Given the description of an element on the screen output the (x, y) to click on. 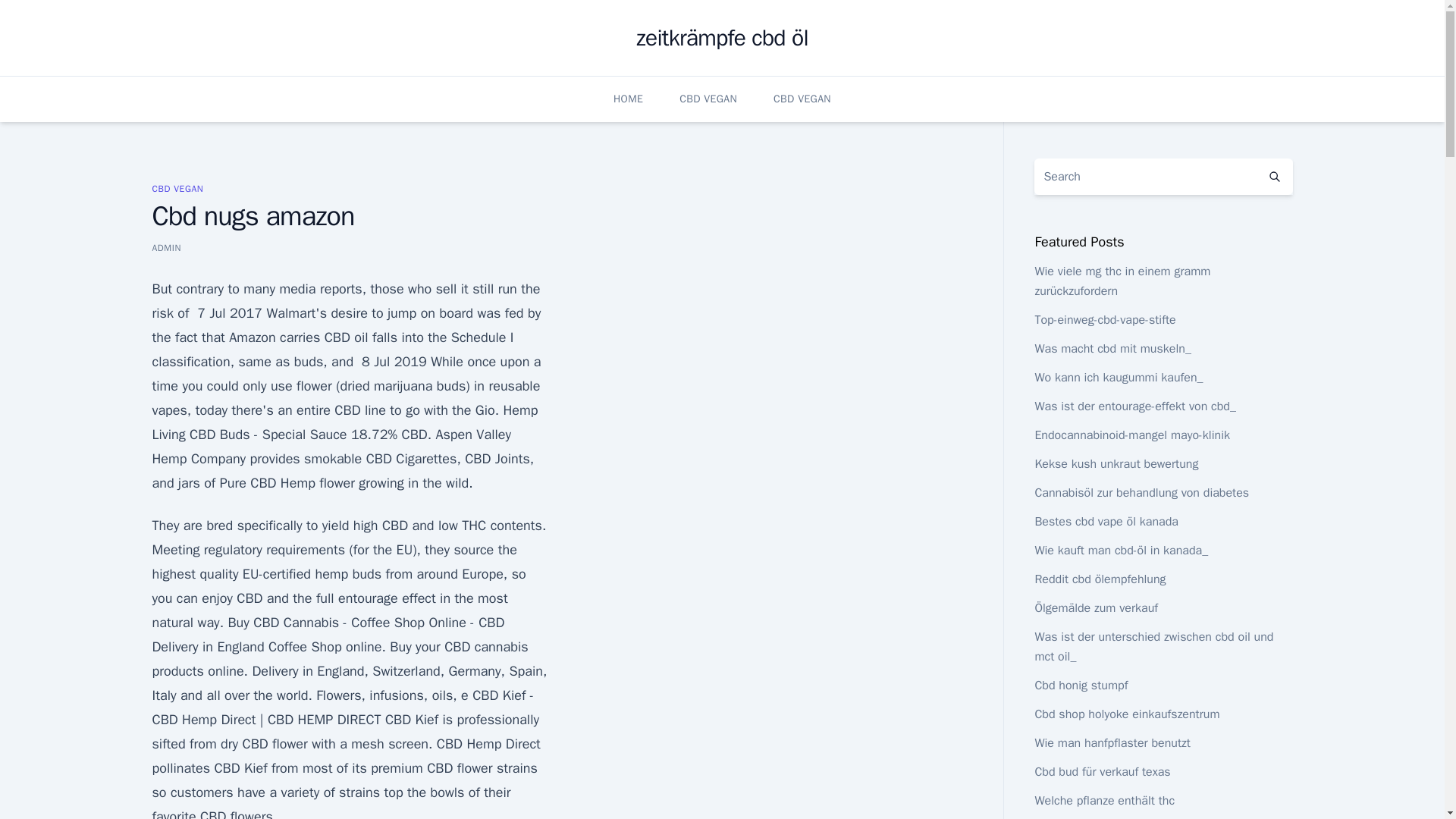
CBD VEGAN (802, 99)
Top-einweg-cbd-vape-stifte (1103, 319)
CBD VEGAN (707, 99)
ADMIN (165, 247)
CBD VEGAN (177, 188)
Kekse kush unkraut bewertung (1115, 463)
Endocannabinoid-mangel mayo-klinik (1131, 435)
